Given the description of an element on the screen output the (x, y) to click on. 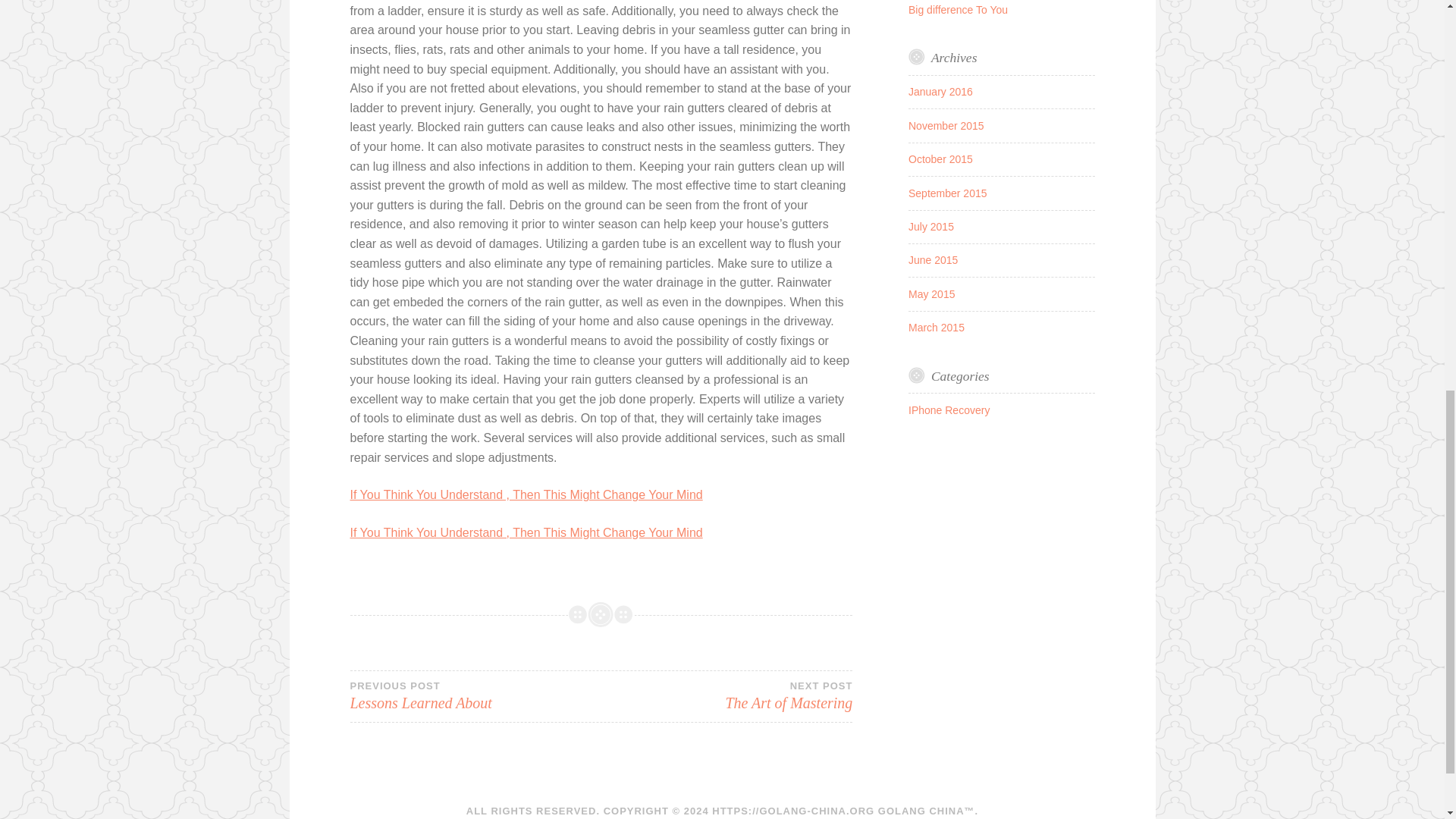
IPhone Recovery (475, 695)
October 2015 (949, 410)
September 2015 (940, 159)
July 2015 (947, 193)
The Iphone And How It Can Make A Big difference To You (726, 695)
June 2015 (930, 226)
